Given the description of an element on the screen output the (x, y) to click on. 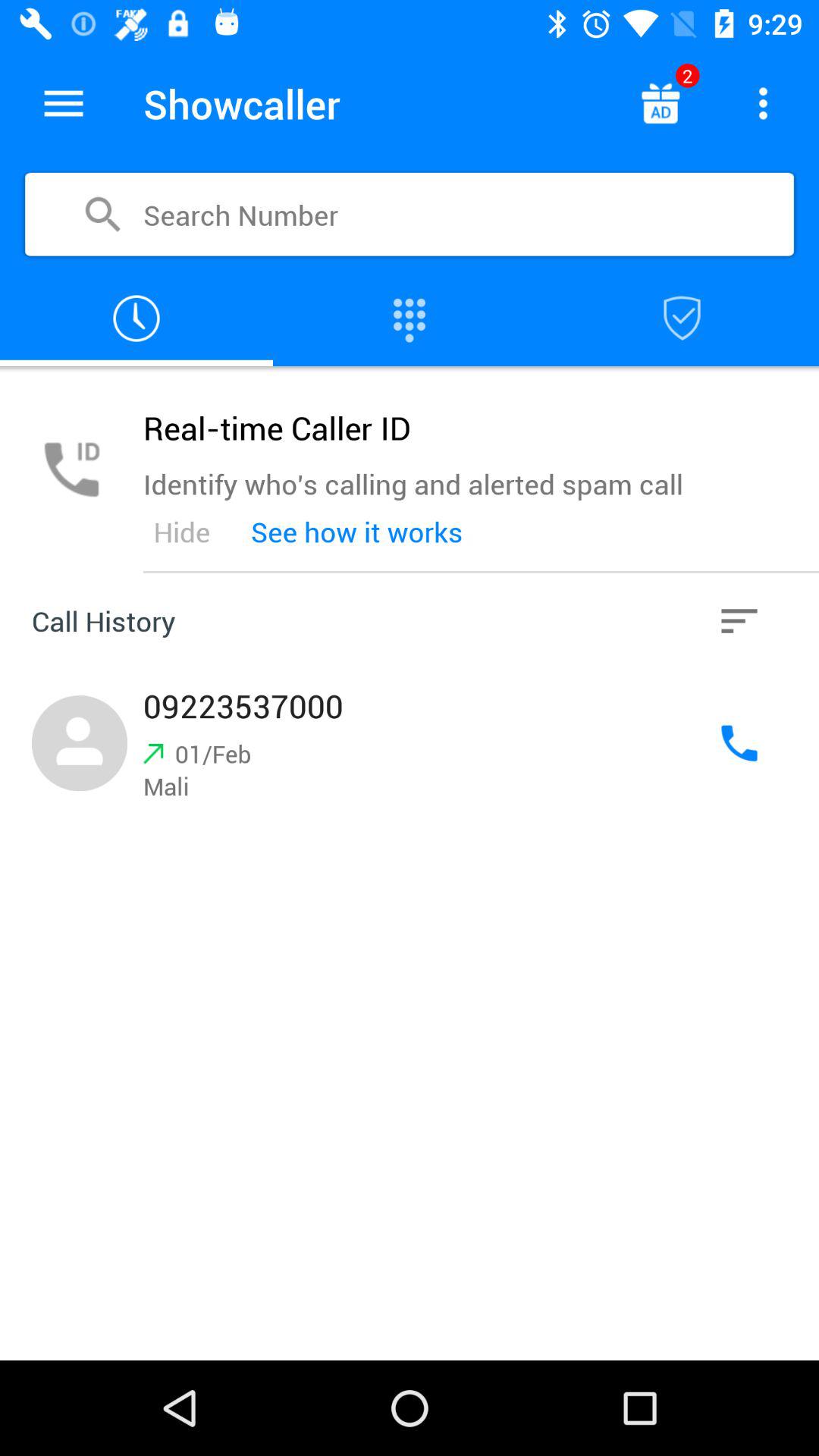
search (682, 318)
